Given the description of an element on the screen output the (x, y) to click on. 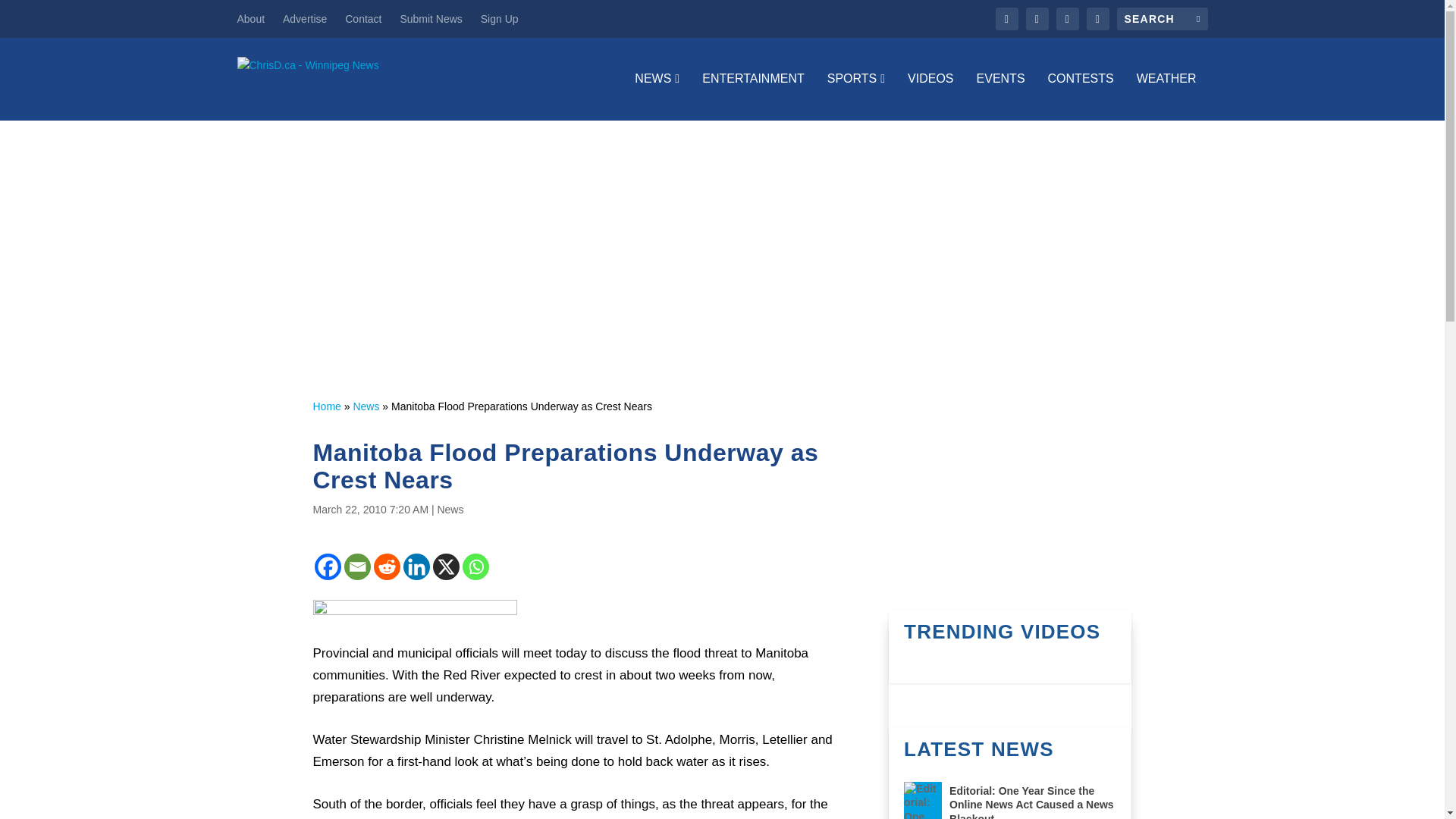
X (445, 566)
Linkedin (416, 566)
News (365, 406)
WEATHER (1166, 96)
Flood Watch 2010 (414, 610)
Home (326, 406)
Submit News (429, 18)
ENTERTAINMENT (753, 96)
Search for: (1161, 18)
NEWS (656, 96)
VIDEOS (930, 96)
News (449, 509)
Advertise (304, 18)
Facebook (327, 566)
Sign Up (499, 18)
